Given the description of an element on the screen output the (x, y) to click on. 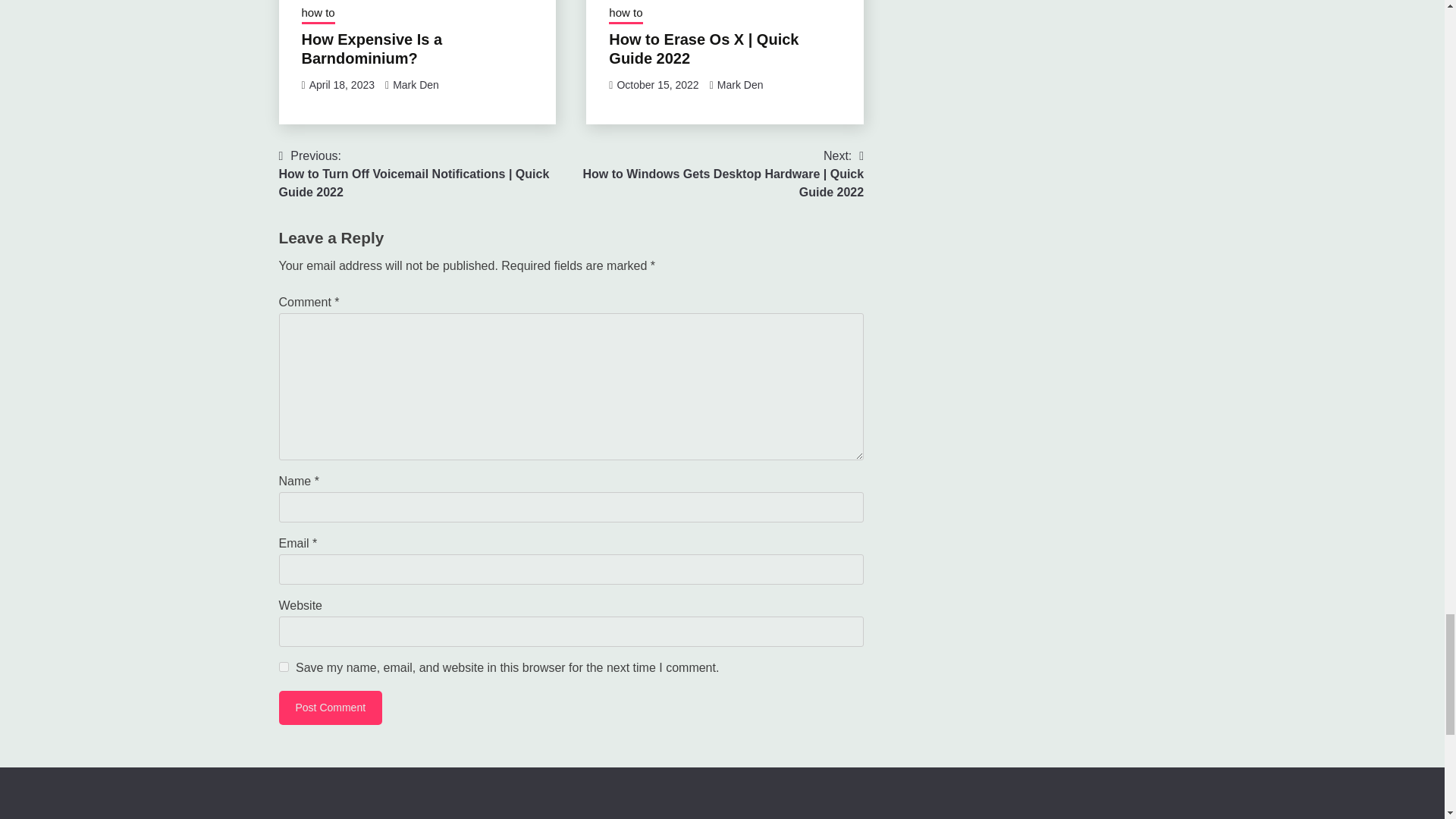
yes (283, 666)
Post Comment (330, 707)
how to (317, 14)
How Expensive Is a Barndominium? (371, 48)
